Given the description of an element on the screen output the (x, y) to click on. 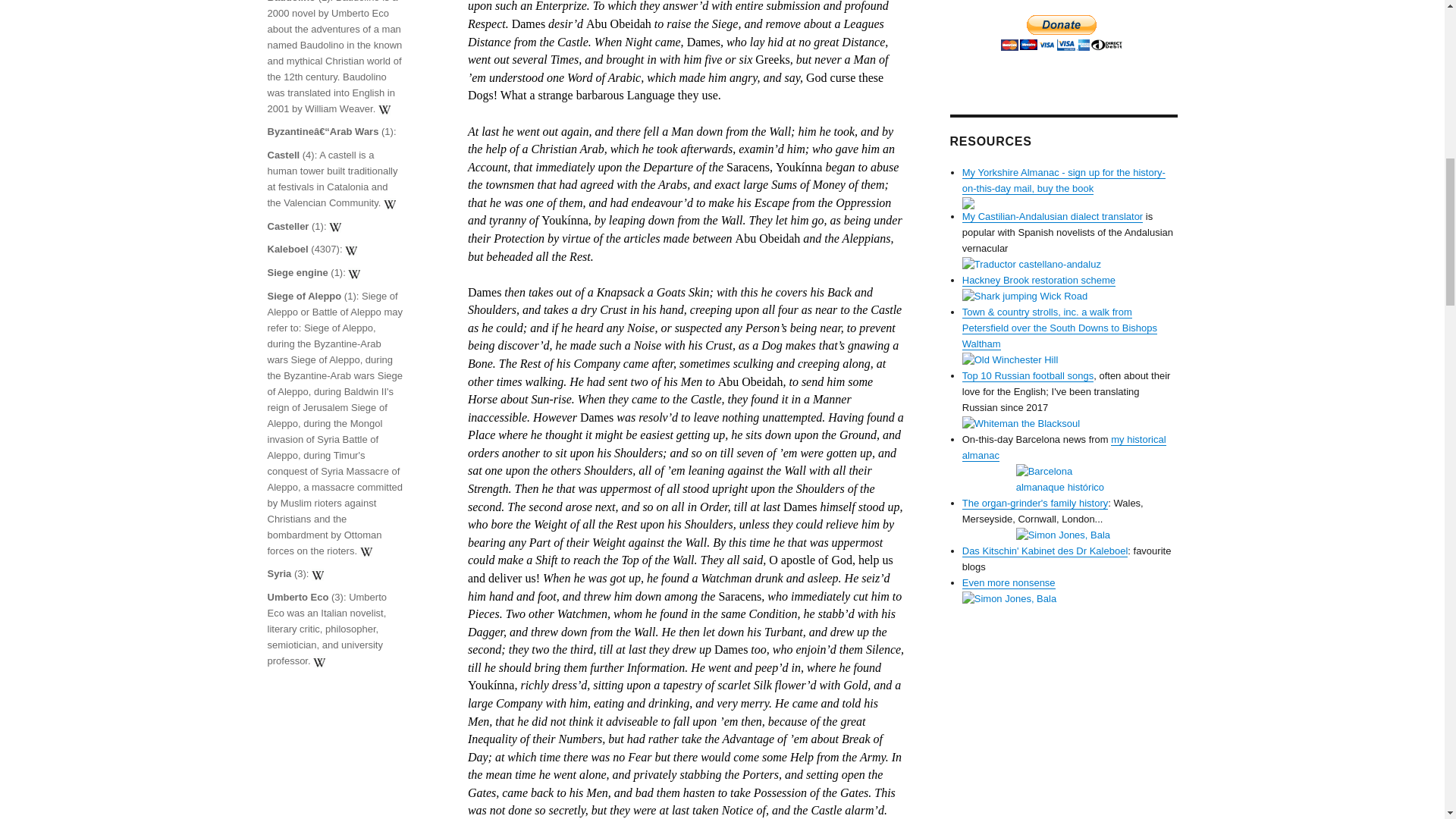
PayPal - The safer, easier way to pay online! (1061, 32)
